Given the description of an element on the screen output the (x, y) to click on. 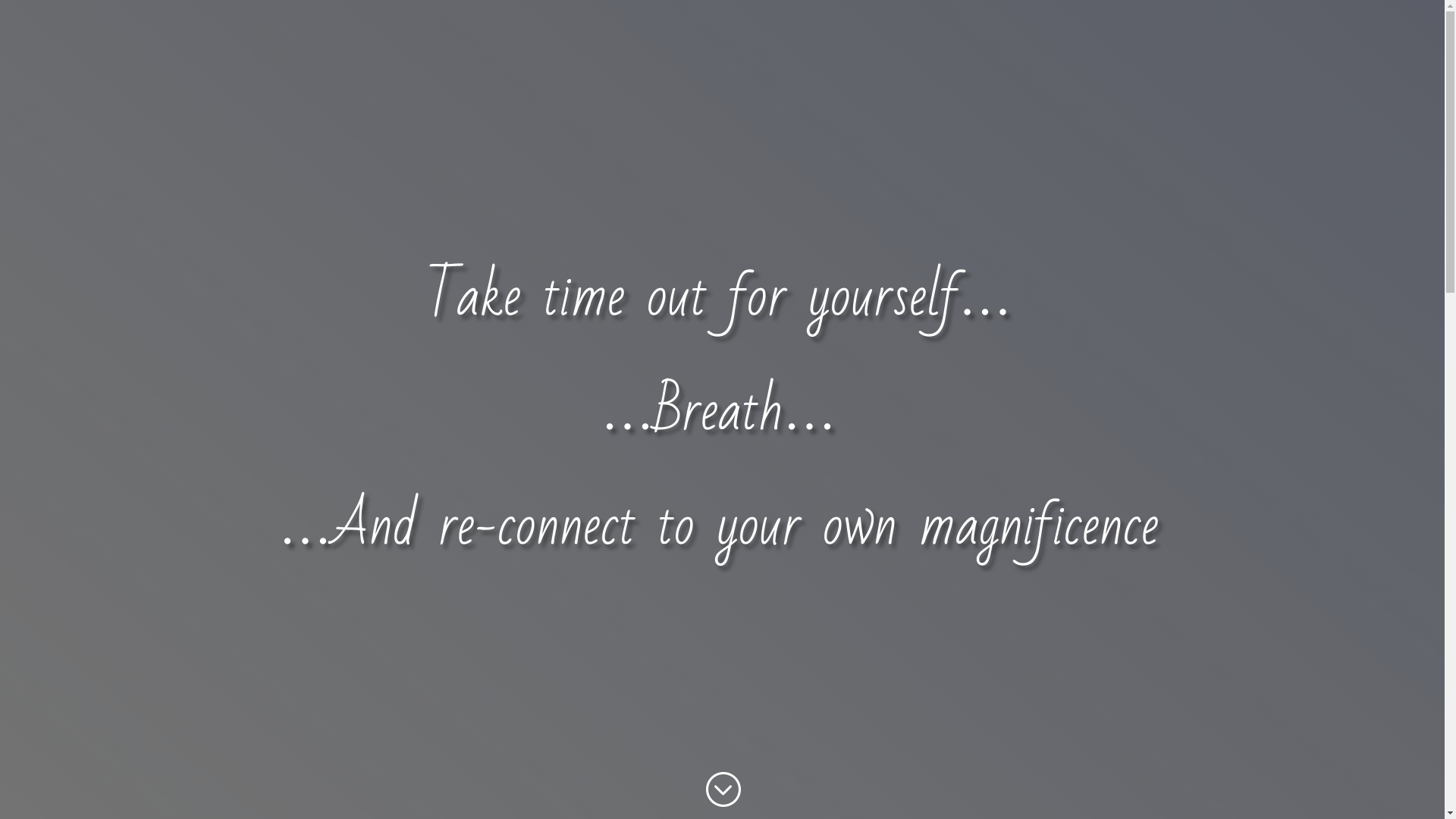
; Element type: text (721, 789)
